Given the description of an element on the screen output the (x, y) to click on. 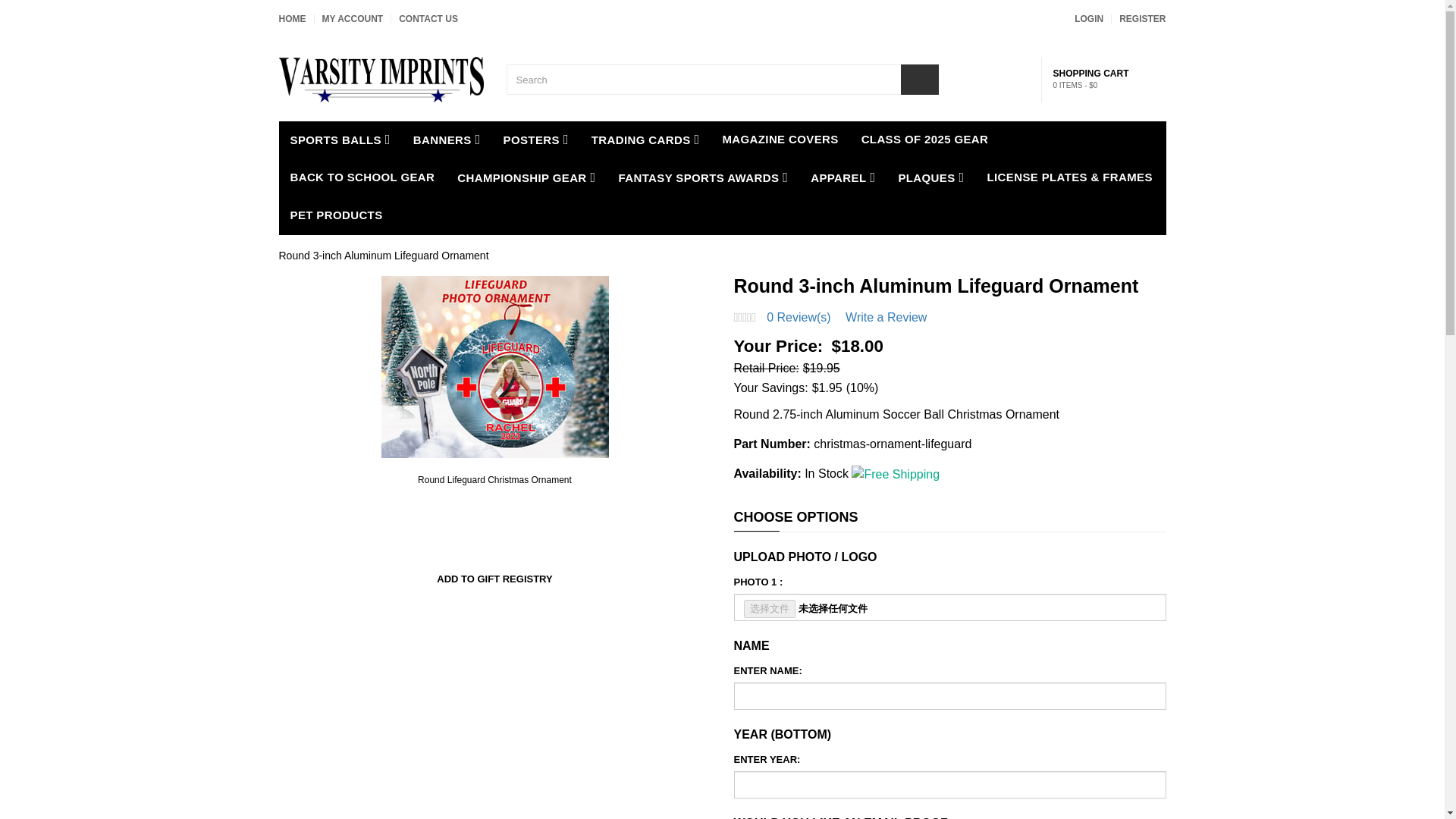
LOGIN (1088, 18)
BANNERS (446, 139)
HOME (292, 18)
MY ACCOUNT (351, 18)
Round Lifeguard Christmas Ornament  (495, 480)
TRADING CARDS (645, 139)
SPORTS BALLS (340, 139)
Round Lifeguard Christmas Ornament  (495, 366)
CONTACT US (428, 18)
REGISTER (1142, 18)
